Given the description of an element on the screen output the (x, y) to click on. 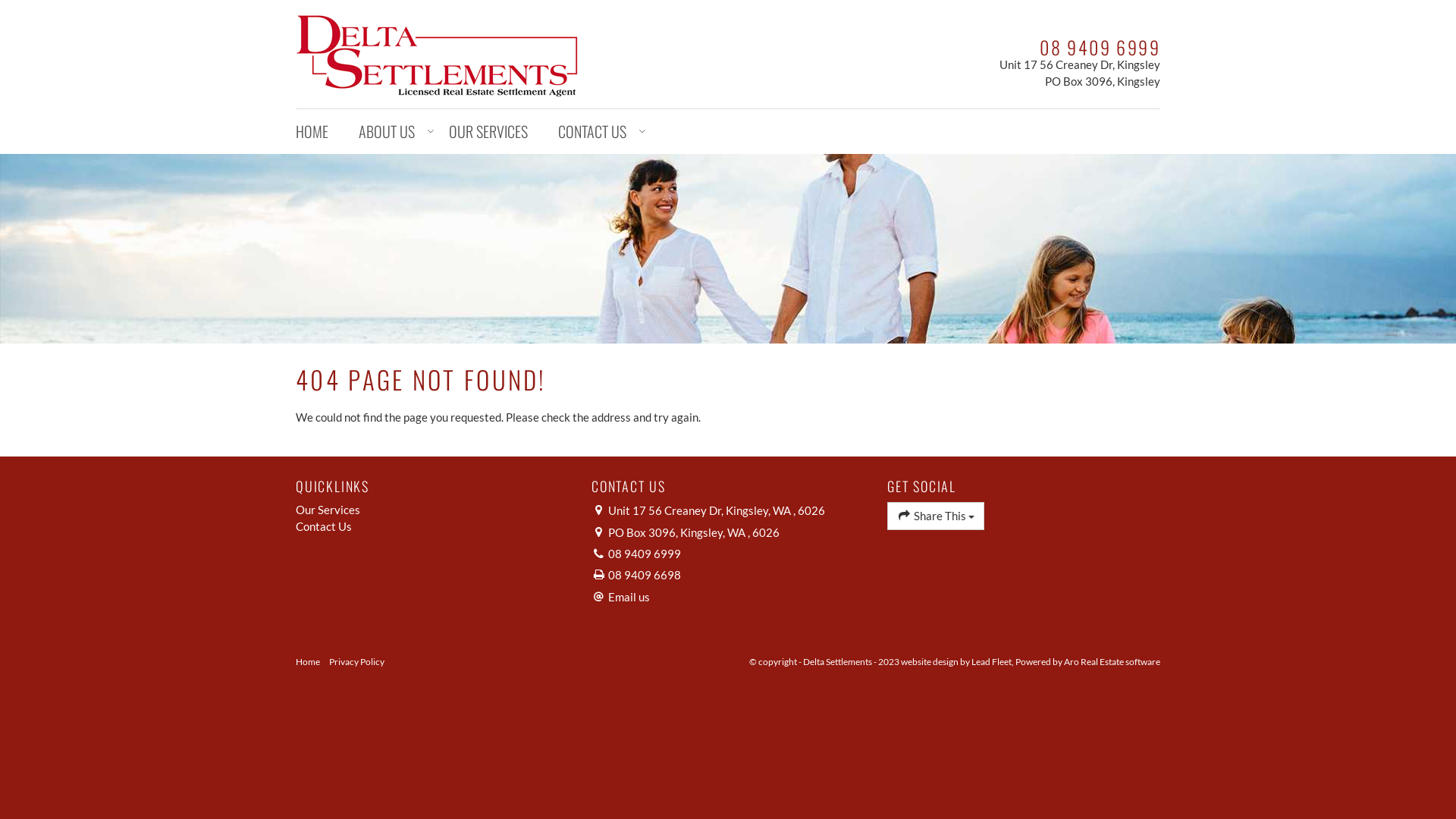
Email us Element type: text (628, 596)
OUR SERVICES Element type: text (487, 131)
HOME Element type: text (319, 131)
Delta Settlements Element type: hover (436, 52)
Aro Real Estate software Element type: text (1111, 661)
Privacy Policy Element type: text (356, 661)
Share This Element type: text (935, 515)
Home Element type: text (307, 661)
Contact Us Element type: text (431, 526)
ABOUT US Element type: text (388, 131)
Our Services Element type: text (431, 509)
CONTACT US Element type: text (593, 131)
Lead Fleet Element type: text (991, 661)
